Given the description of an element on the screen output the (x, y) to click on. 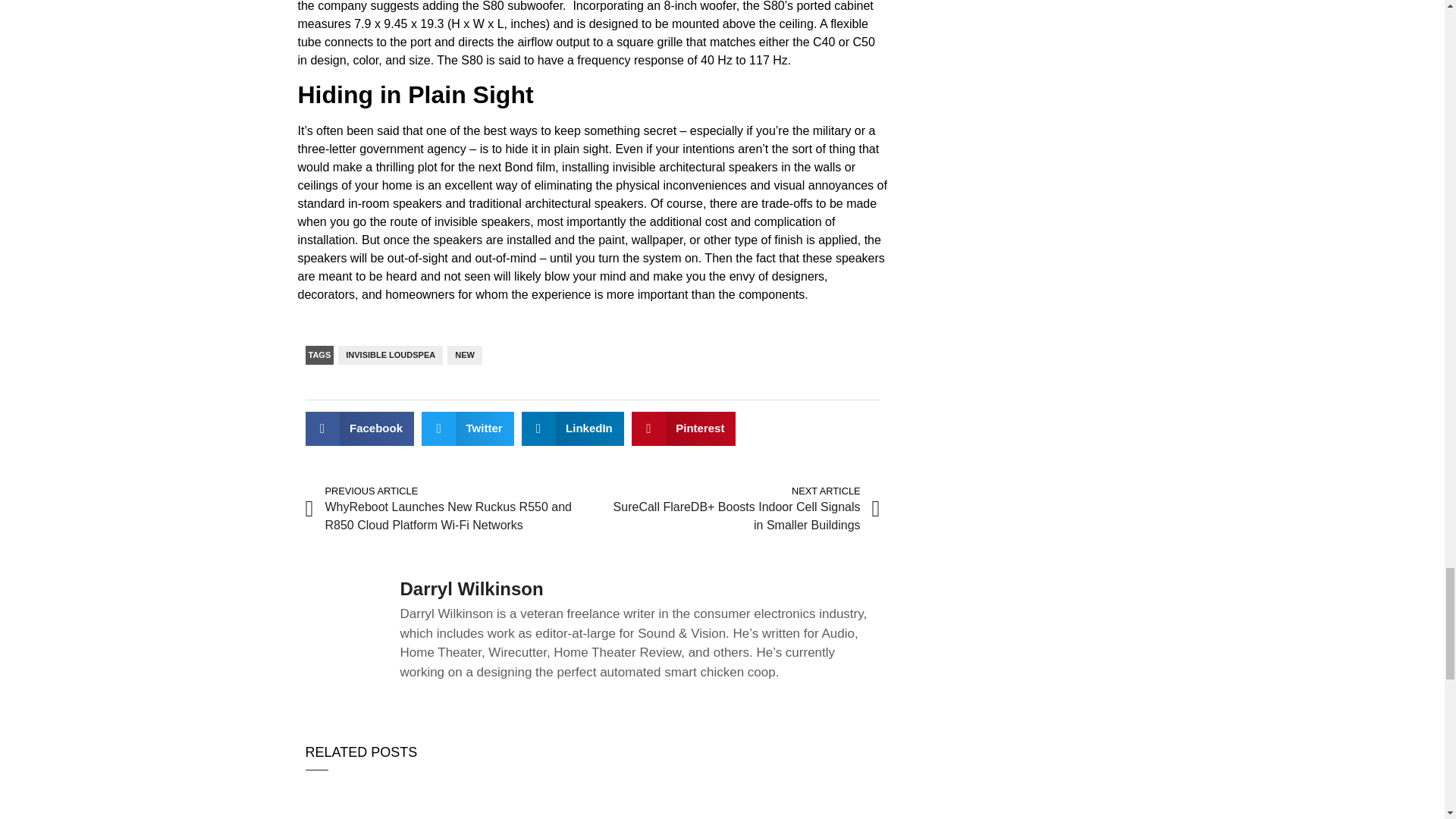
perfect-fit (392, 800)
Skyworth C1 Canvas Art (791, 800)
NEW (463, 354)
INVISIBLE LOUDSPEA (389, 354)
skyworth little woodrow (592, 800)
